Given the description of an element on the screen output the (x, y) to click on. 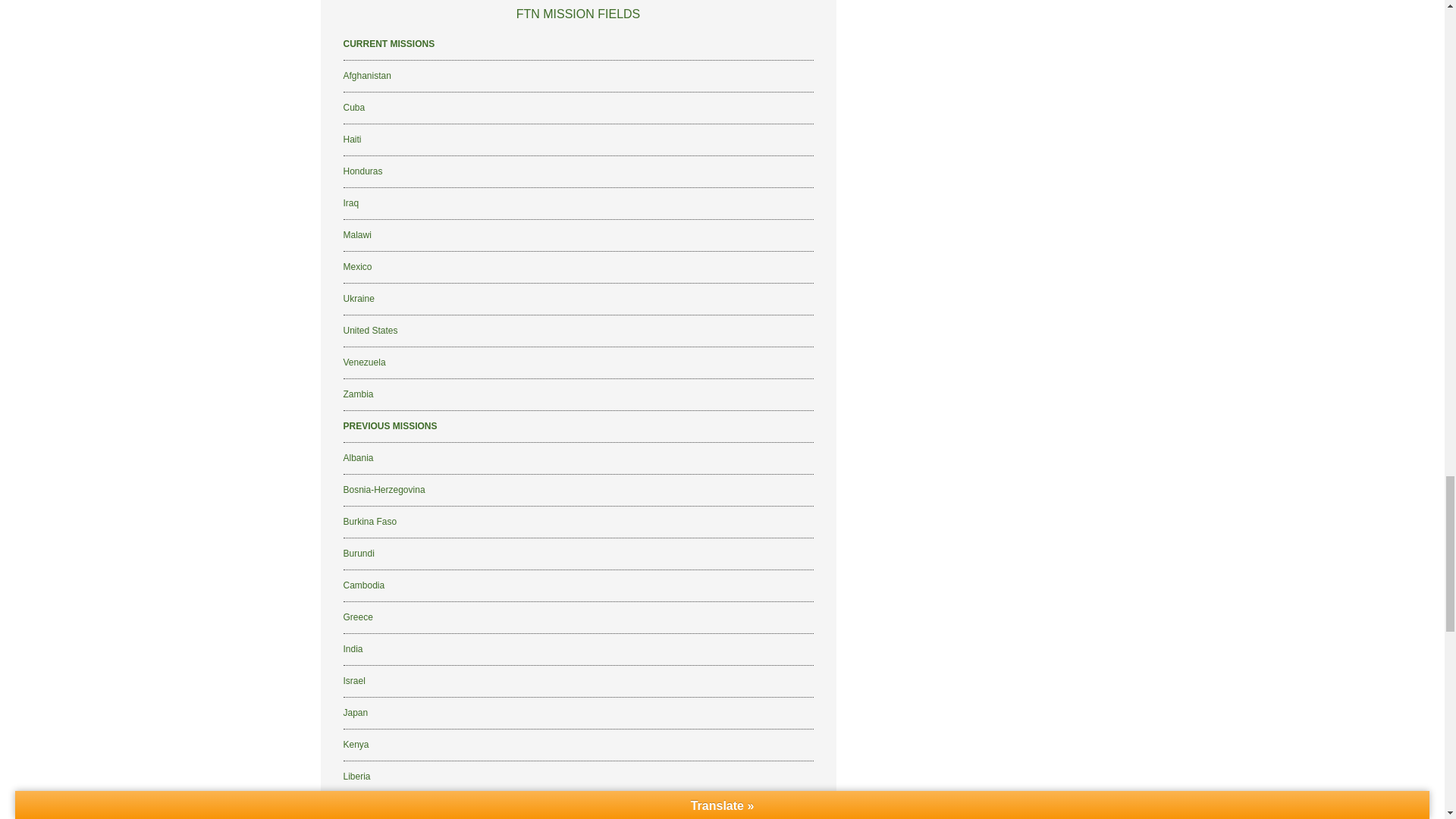
Cuba (353, 107)
Honduras (361, 171)
Malawi (356, 235)
United States (369, 330)
Afghanistan (366, 75)
Venezuela (363, 362)
Mexico (356, 266)
Iraq (350, 203)
Ukraine (358, 298)
Haiti (351, 139)
CURRENT MISSIONS (387, 43)
